Given the description of an element on the screen output the (x, y) to click on. 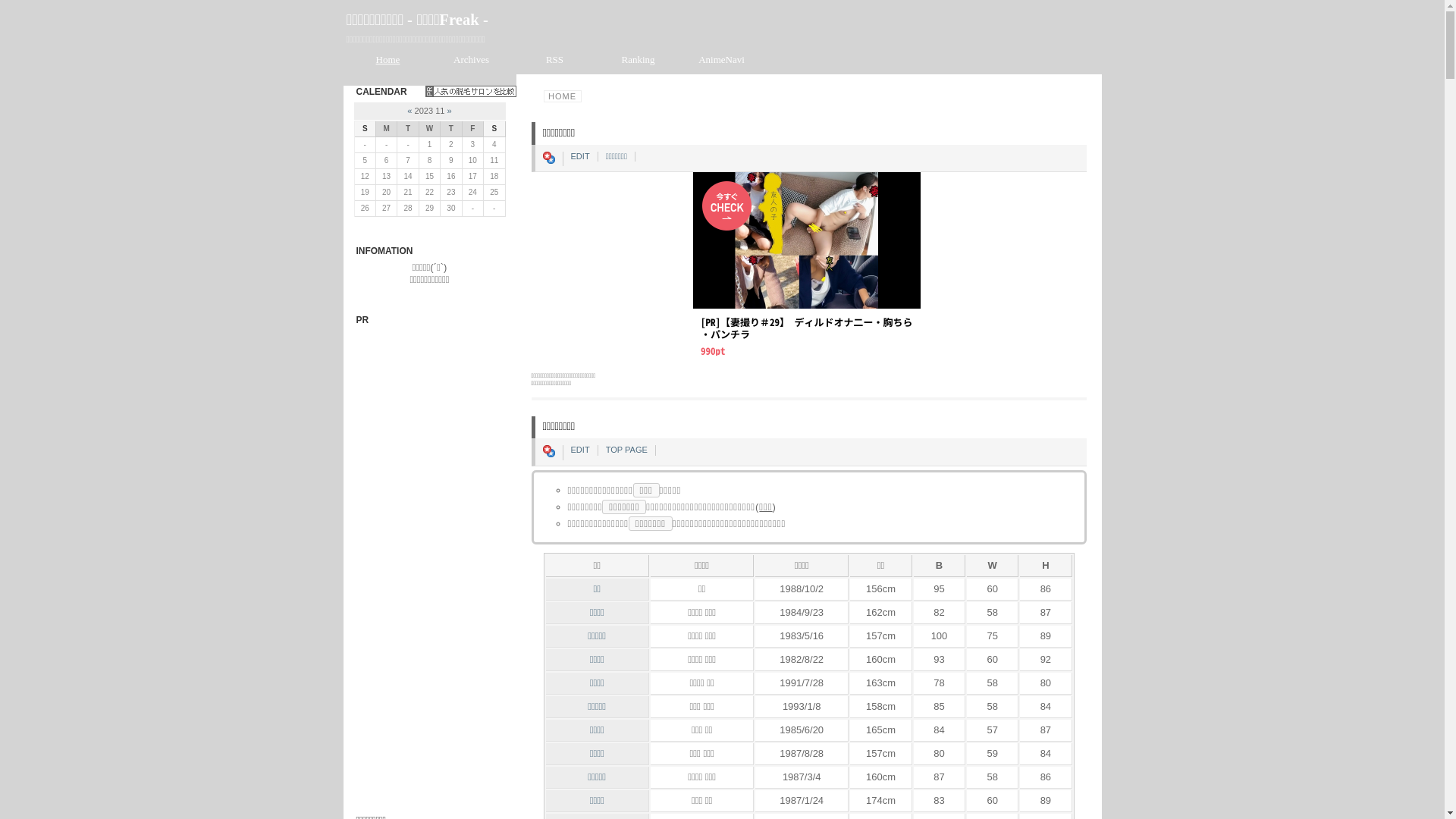
RSS Element type: text (554, 59)
HOME Element type: text (561, 96)
EDIT Element type: text (579, 155)
Home Element type: text (387, 59)
EDIT Element type: text (579, 449)
AnimeNavi Element type: text (720, 59)
Archives Element type: text (470, 59)
TOP PAGE Element type: text (626, 449)
Ranking Element type: text (637, 59)
